Given the description of an element on the screen output the (x, y) to click on. 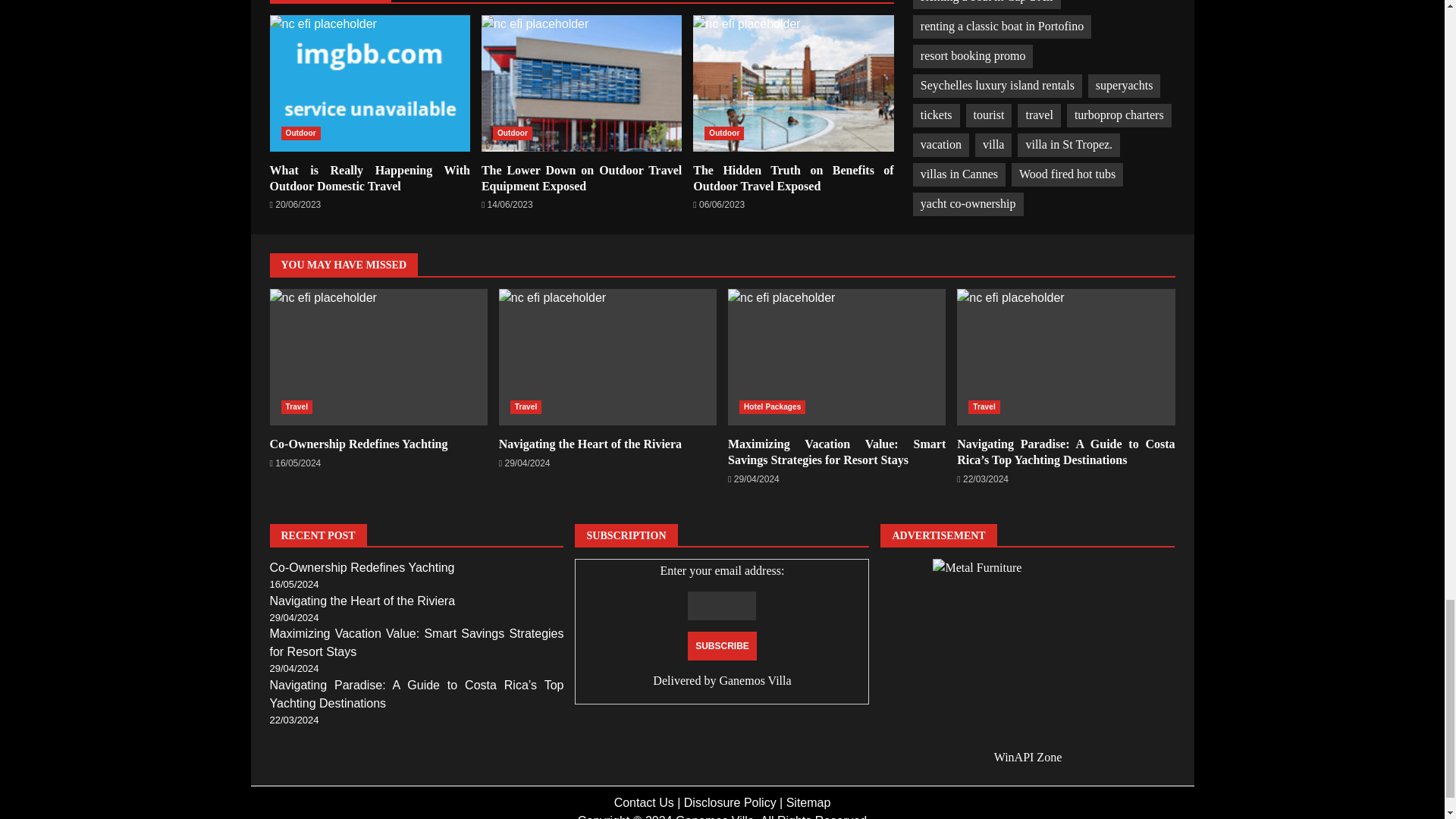
The Lower Down on Outdoor Travel Equipment Exposed (581, 177)
The Hidden Truth on Benefits of Outdoor Travel Exposed (793, 83)
The Hidden Truth on Benefits of Outdoor Travel Exposed (793, 177)
Outdoor (300, 133)
What is Really Happening With Outdoor Domestic Travel (369, 177)
Outdoor (724, 133)
The Lower Down on Outdoor Travel Equipment Exposed (581, 83)
What is Really Happening With Outdoor Domestic Travel (369, 83)
What is Really Happening With Outdoor Domestic Travel (369, 83)
The Lower Down on Outdoor Travel Equipment Exposed (581, 83)
Subscribe (722, 645)
Outdoor (512, 133)
The Hidden Truth on Benefits of Outdoor Travel Exposed (793, 83)
